Given the description of an element on the screen output the (x, y) to click on. 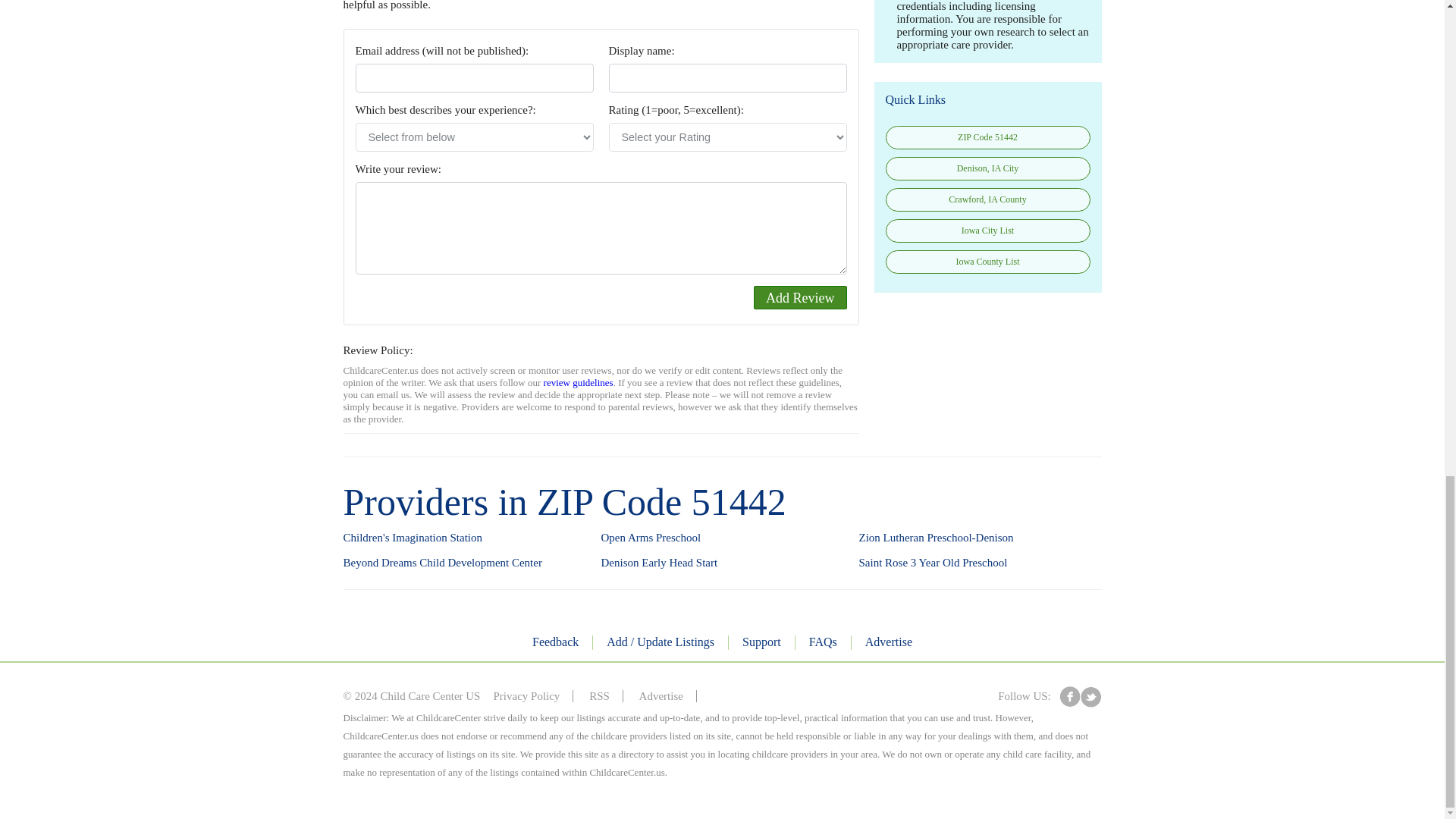
Frequently Asked Questions (823, 642)
Add and Update Free Listing (660, 642)
ZIP Code 51442 (987, 137)
Beyond Dreams Child Development Center (441, 563)
Feedback,Suggestions (555, 642)
Denison, IA City (987, 168)
Open Arms Preschool (649, 538)
Add Review (799, 297)
review guidelines (577, 382)
Zion Lutheran Preschool-Denison (936, 538)
Crawford, IA County (987, 199)
Iowa County List (987, 261)
Add Review (799, 297)
Children's Imagination Station (411, 538)
Iowa City List (987, 230)
